Given the description of an element on the screen output the (x, y) to click on. 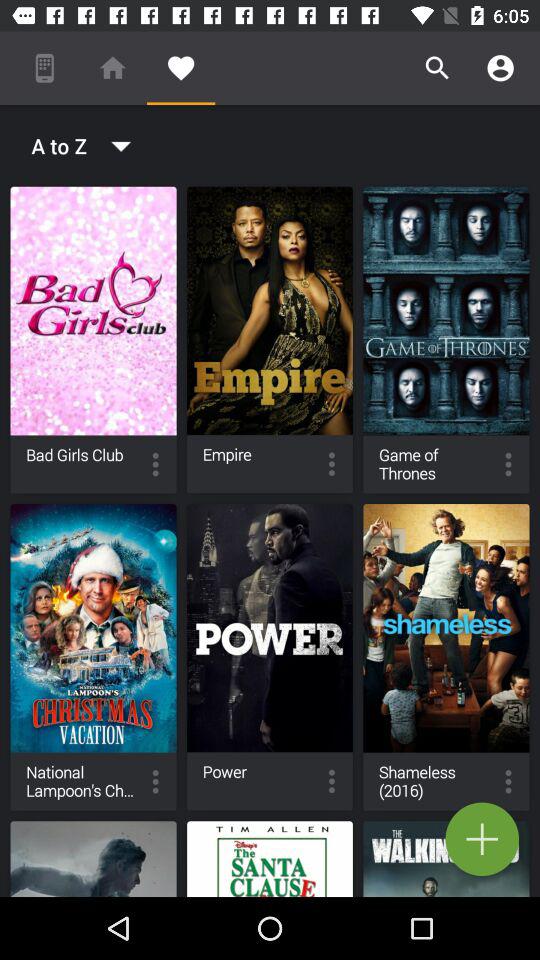
launch the icon above a to z icon (112, 68)
